Given the description of an element on the screen output the (x, y) to click on. 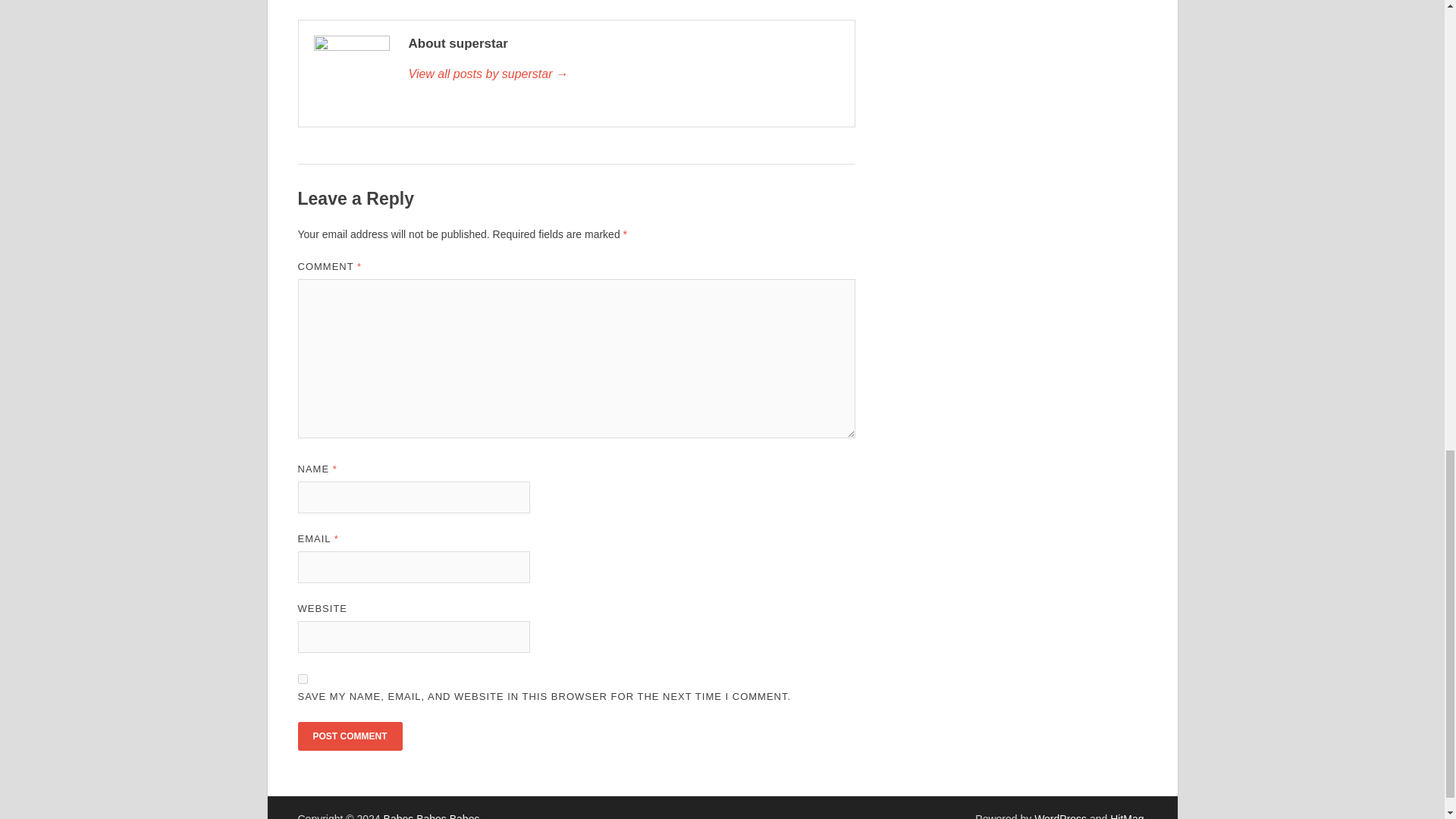
superstar (622, 74)
Post Comment (349, 736)
Post Comment (349, 736)
yes (302, 678)
